Given the description of an element on the screen output the (x, y) to click on. 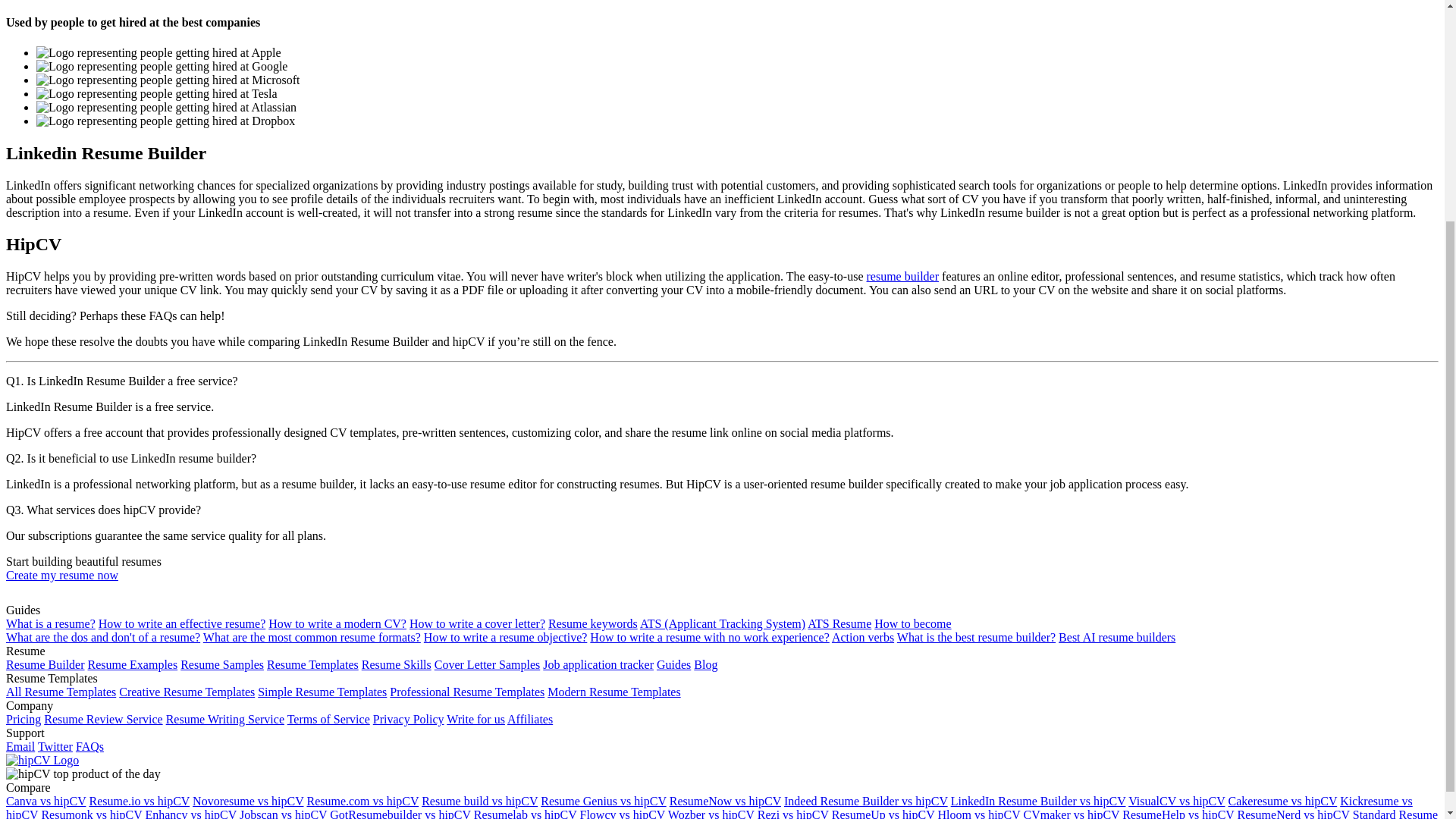
How to write an effective resume? (182, 623)
Resume Examples (132, 664)
Resume Samples (221, 664)
How to become (912, 623)
ATS Resume (839, 623)
Resume Skills (395, 664)
Cover Letter Samples (486, 664)
Resume Builder (44, 664)
What are the dos and don't of a resume? (102, 636)
All Resume Templates (60, 691)
